Given the description of an element on the screen output the (x, y) to click on. 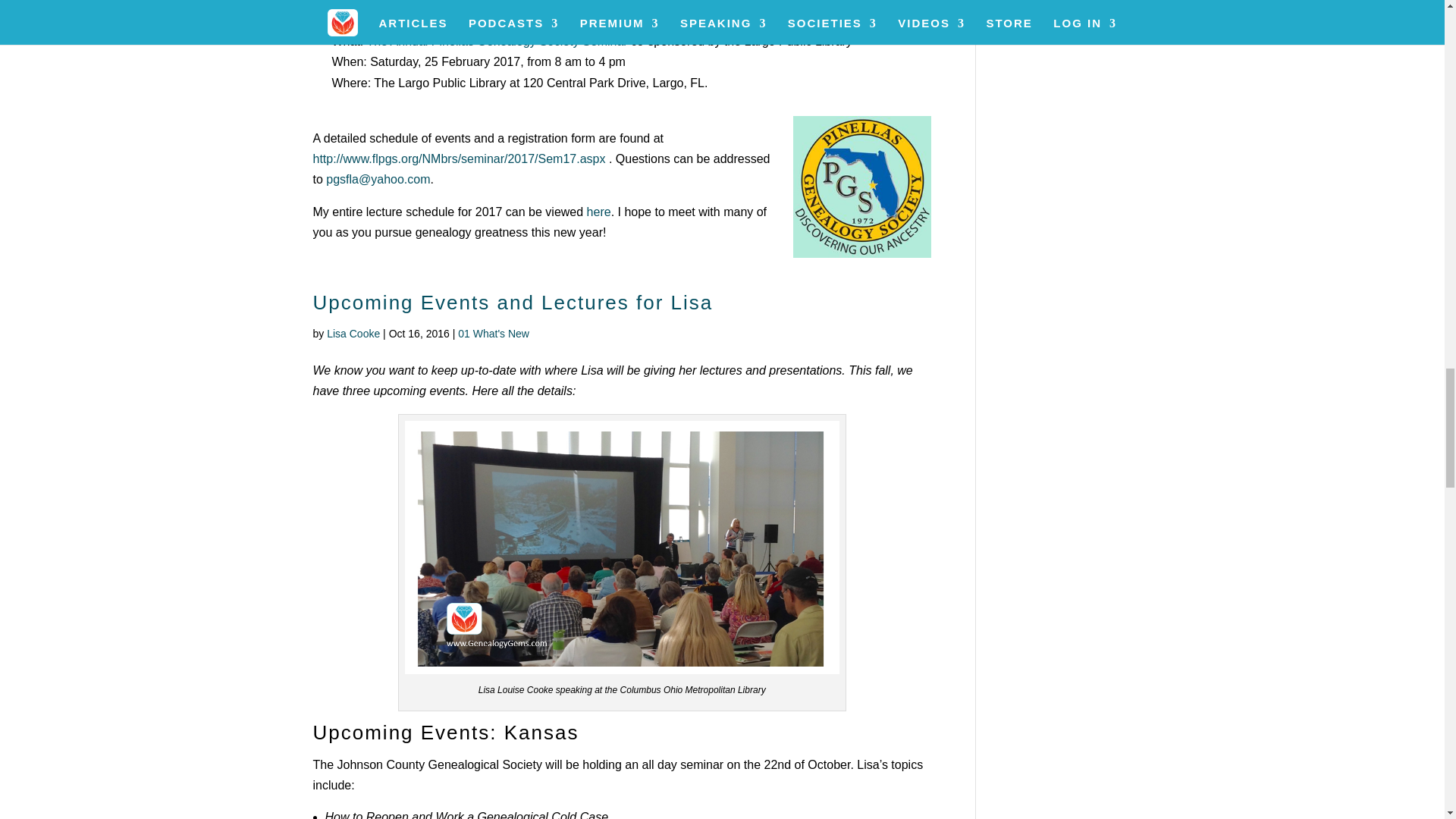
Posts by Lisa Cooke (353, 333)
